Given the description of an element on the screen output the (x, y) to click on. 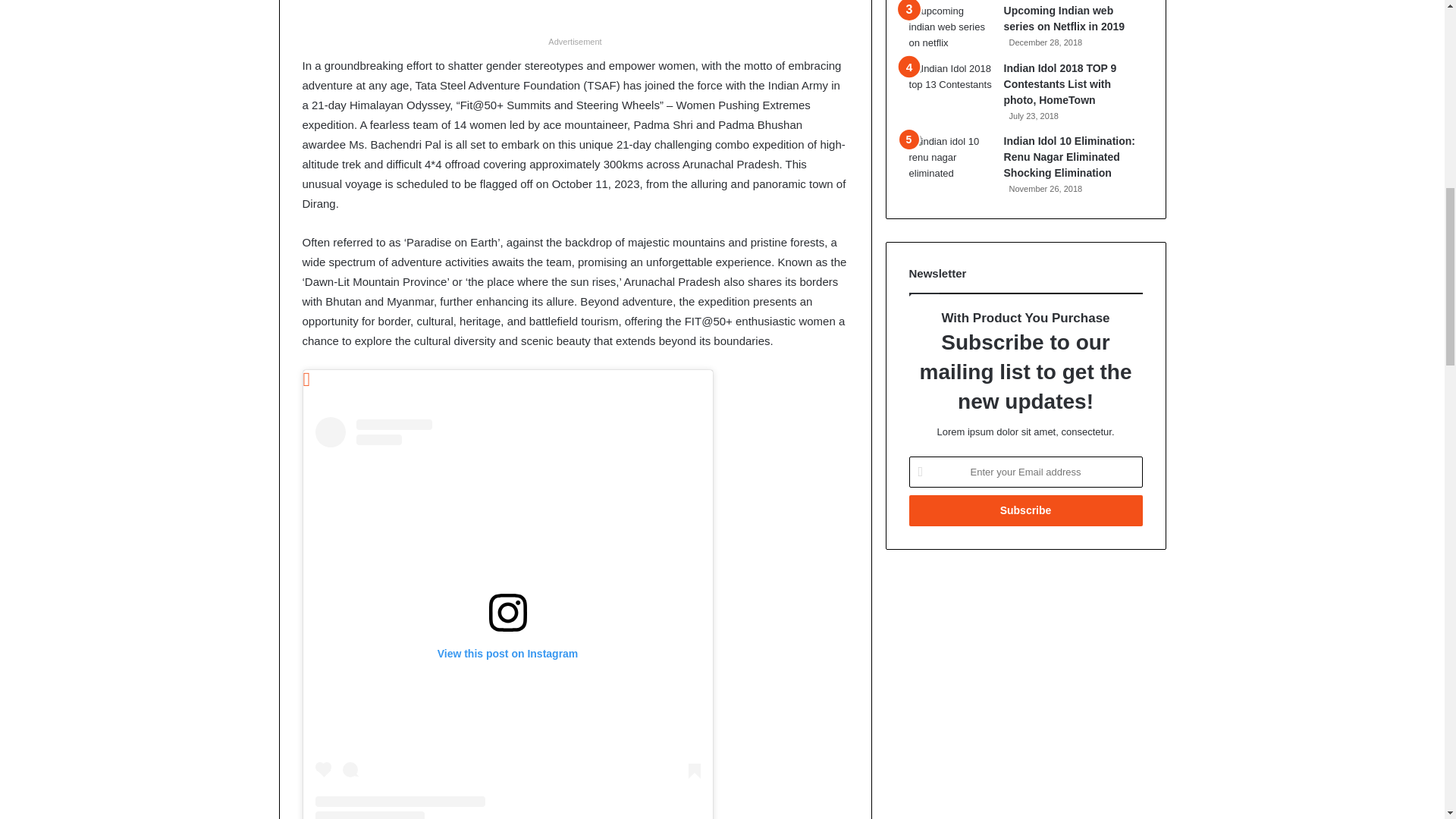
Subscribe (1025, 510)
